Given the description of an element on the screen output the (x, y) to click on. 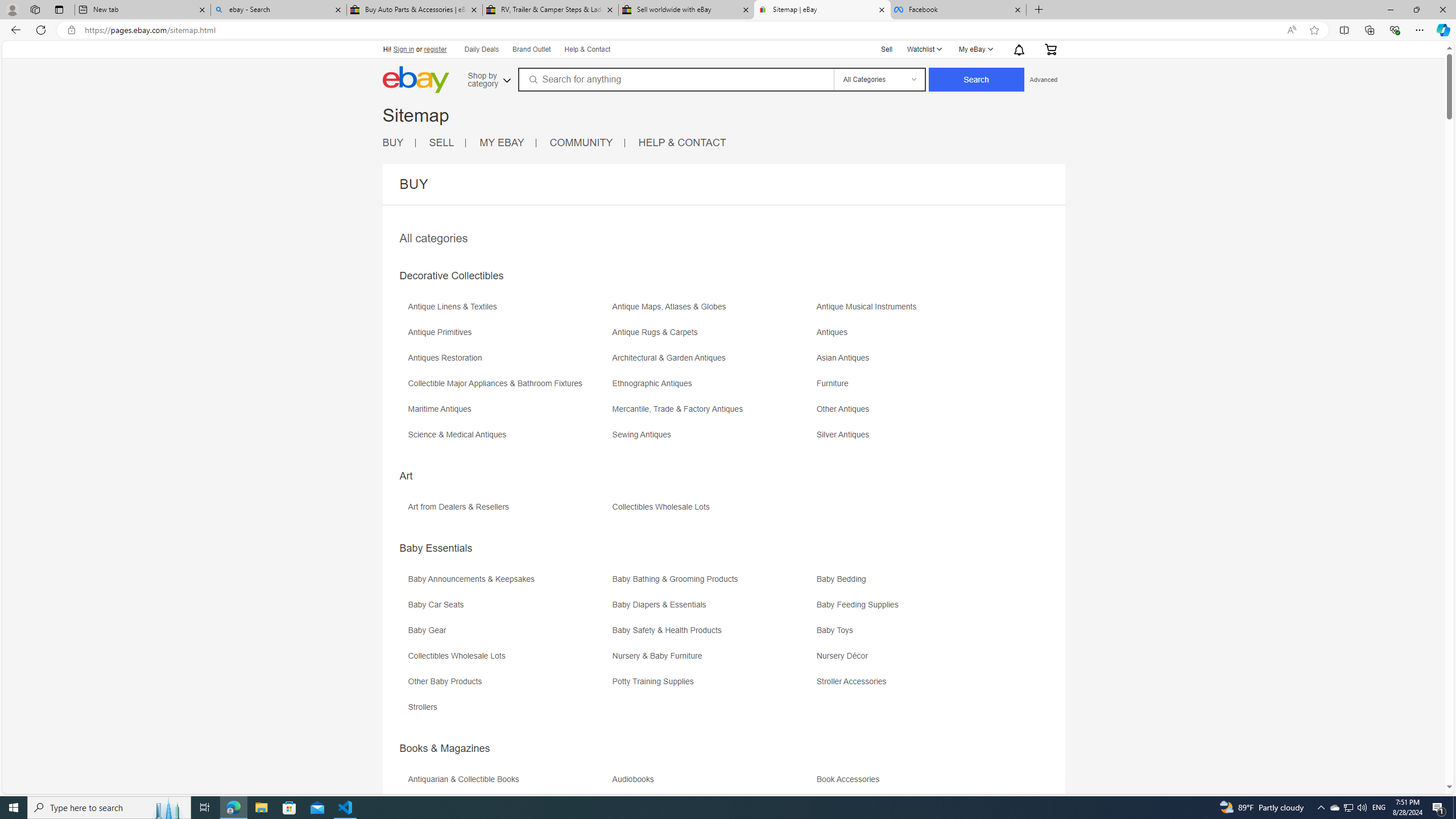
Art from Dealers & Resellers (461, 506)
Other Antiques (845, 408)
Collectibles Wholesale Lots (459, 655)
Baby Safety & Health Products (669, 630)
Brand Outlet (531, 49)
HELP & CONTACT (681, 142)
Antique Musical Instruments (869, 306)
register (434, 49)
Asian Antiques (917, 361)
Ethnographic Antiques (654, 383)
Daily Deals (481, 49)
